Given the description of an element on the screen output the (x, y) to click on. 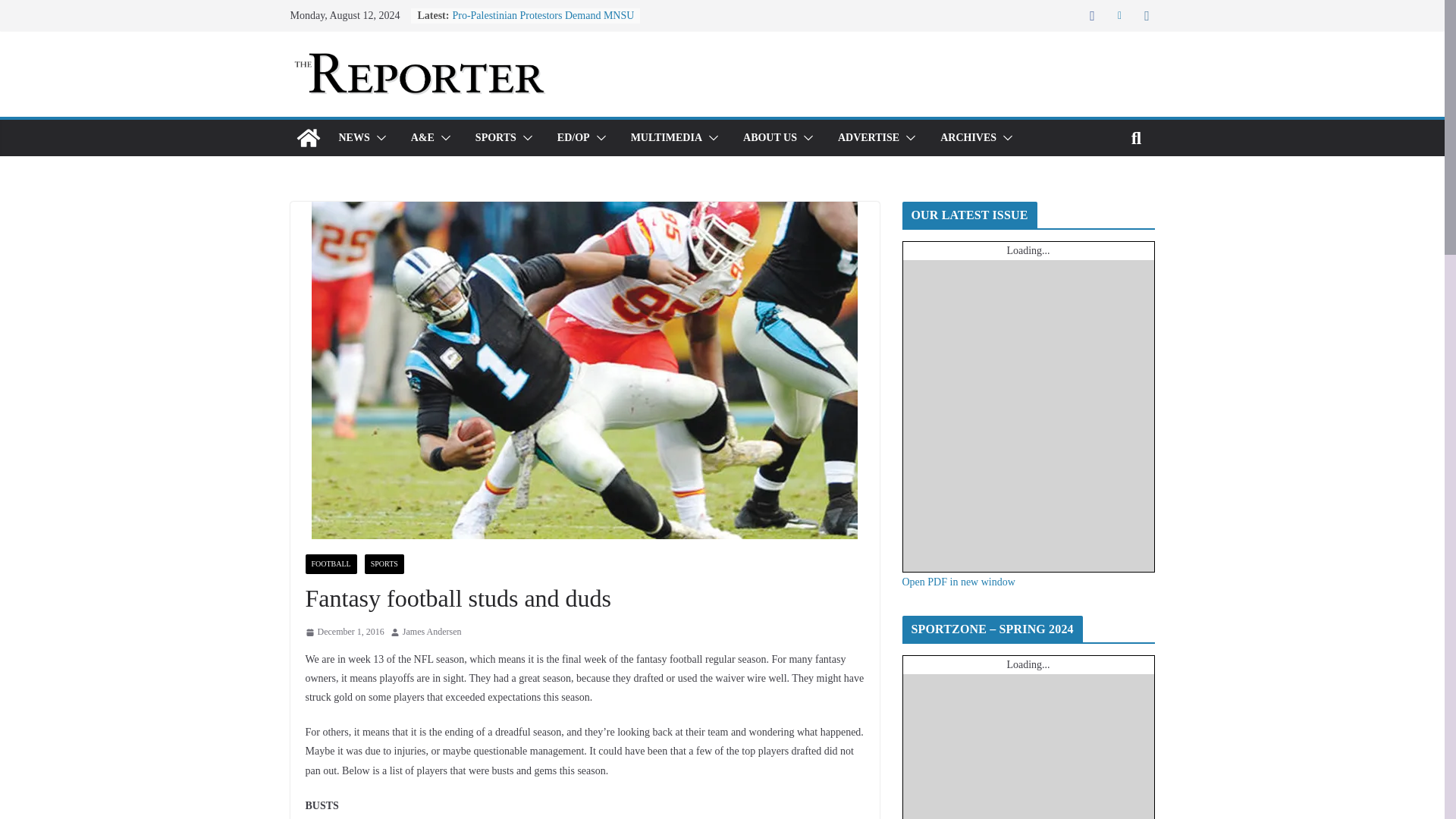
NEWS (353, 137)
MULTIMEDIA (665, 137)
SPORTS (496, 137)
James Andersen (432, 632)
1:55 pm (344, 632)
